Given the description of an element on the screen output the (x, y) to click on. 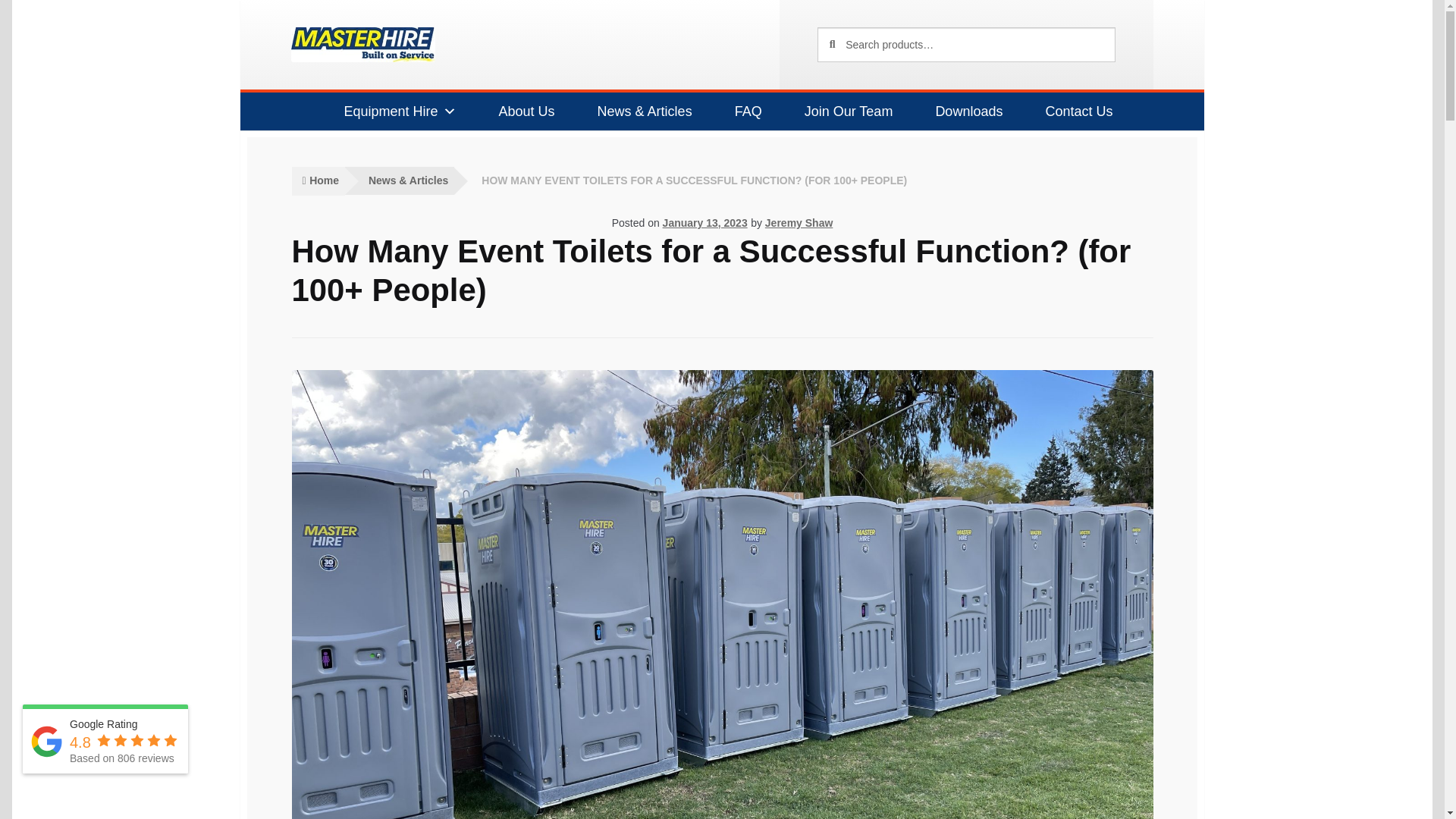
Contact Us (1071, 111)
Join Our Team (842, 111)
Equipment Hire (392, 111)
Downloads (962, 111)
About Us (520, 111)
FAQ (742, 111)
